Given the description of an element on the screen output the (x, y) to click on. 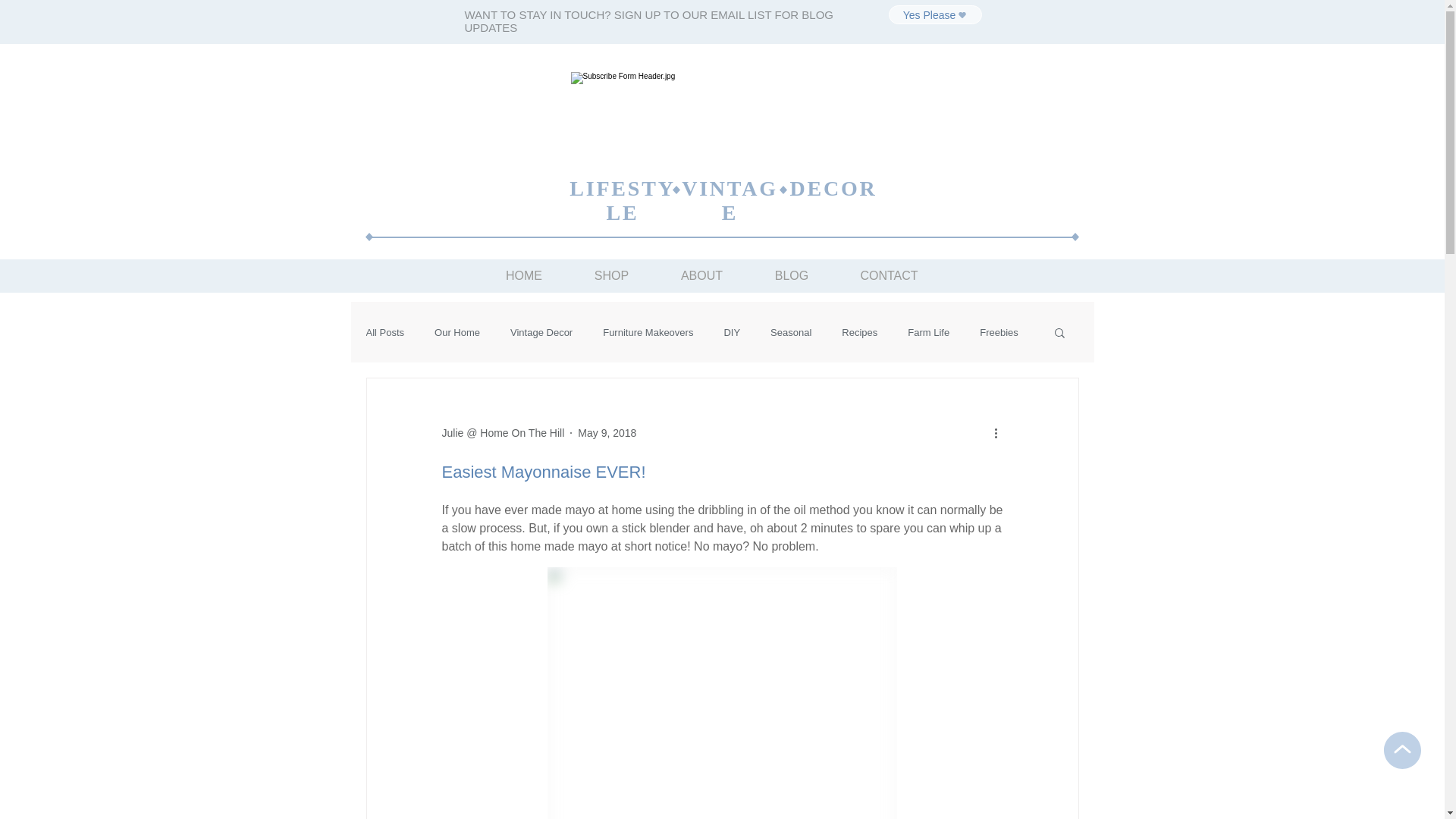
Recipes Element type: text (859, 331)
SHOP Element type: text (611, 275)
CONTACT Element type: text (888, 275)
BLOG Element type: text (791, 275)
DIY Element type: text (731, 331)
Yes Please Element type: text (935, 14)
Seasonal Element type: text (790, 331)
Our Home Element type: text (457, 331)
ABOUT Element type: text (702, 275)
All Posts Element type: text (384, 331)
Farm Life Element type: text (928, 331)
HOME Element type: text (523, 275)
Furniture Makeovers Element type: text (647, 331)
Freebies Element type: text (998, 331)
Vintage Decor Element type: text (541, 331)
